Given the description of an element on the screen output the (x, y) to click on. 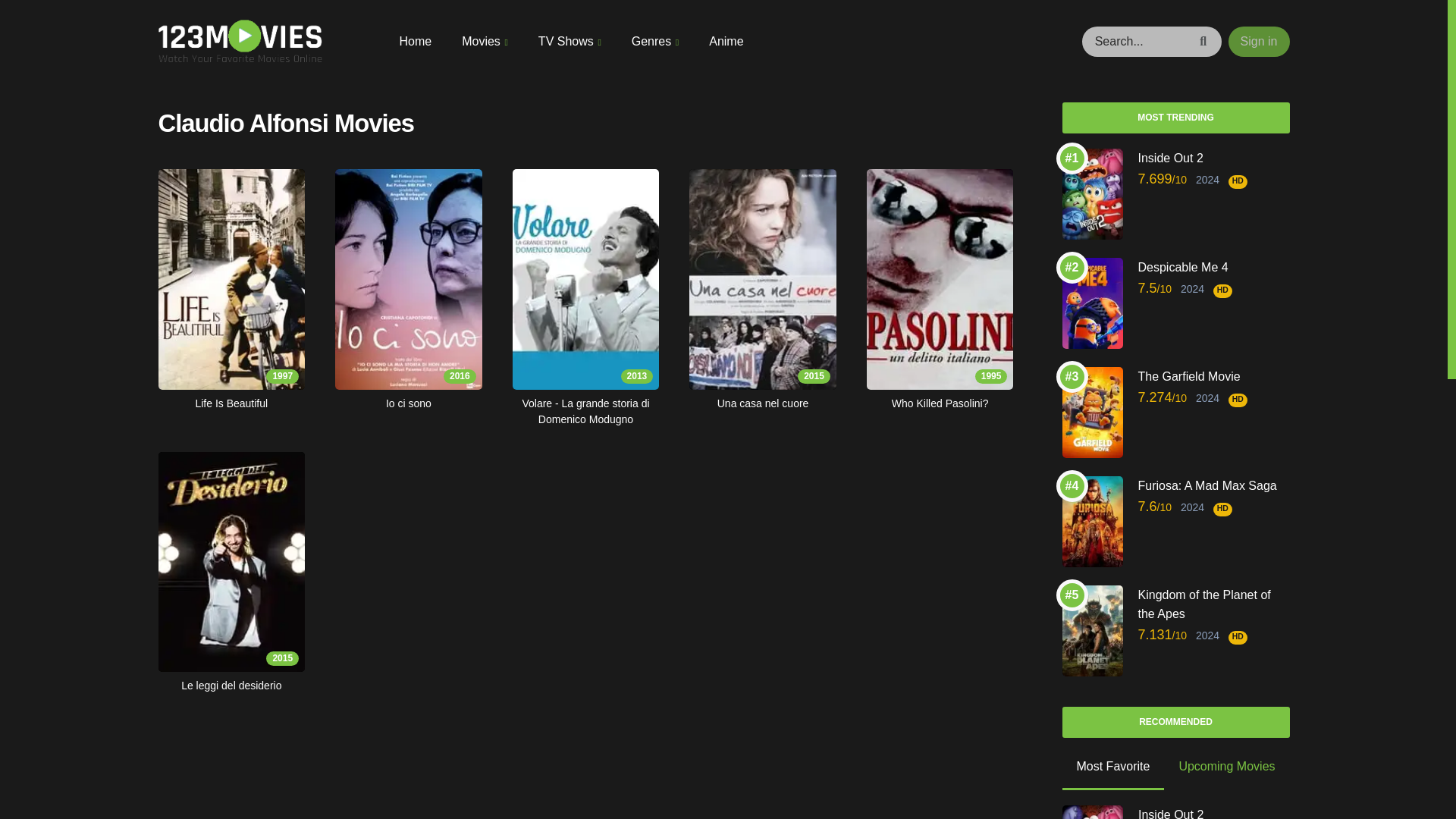
Inside Out 2 (1212, 157)
Home (414, 40)
Genres (654, 41)
Sign in (1259, 41)
TV Shows (569, 41)
Movies (484, 41)
Anime (725, 40)
